Given the description of an element on the screen output the (x, y) to click on. 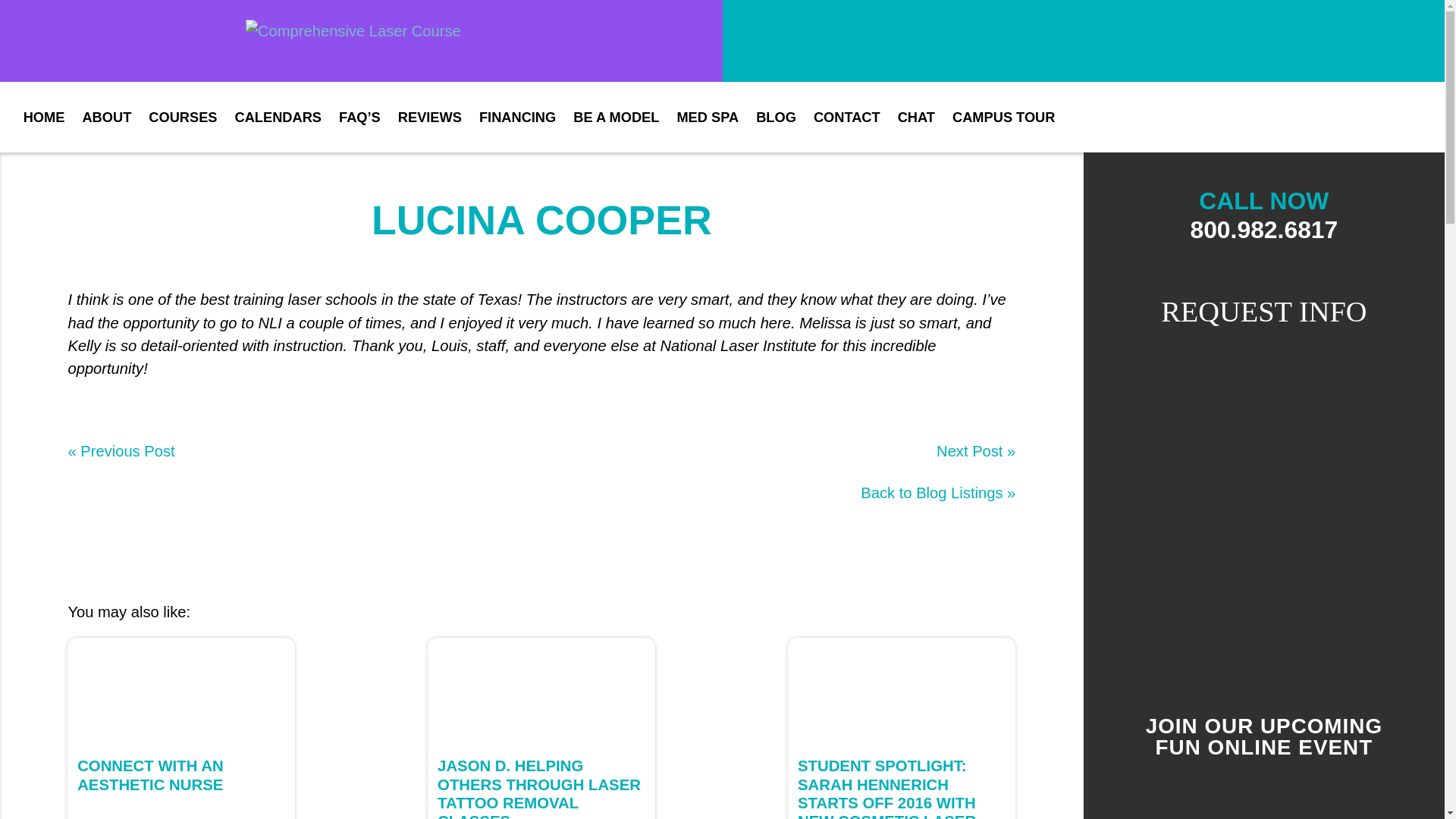
BLOG (775, 117)
CHAT (916, 117)
BE A MODEL (616, 117)
REVIEWS (429, 117)
CALENDARS (277, 117)
Comprehensive Laser Course (360, 41)
FINANCING (517, 117)
MED SPA (707, 117)
ABOUT (106, 117)
Youtube (1308, 117)
